Given the description of an element on the screen output the (x, y) to click on. 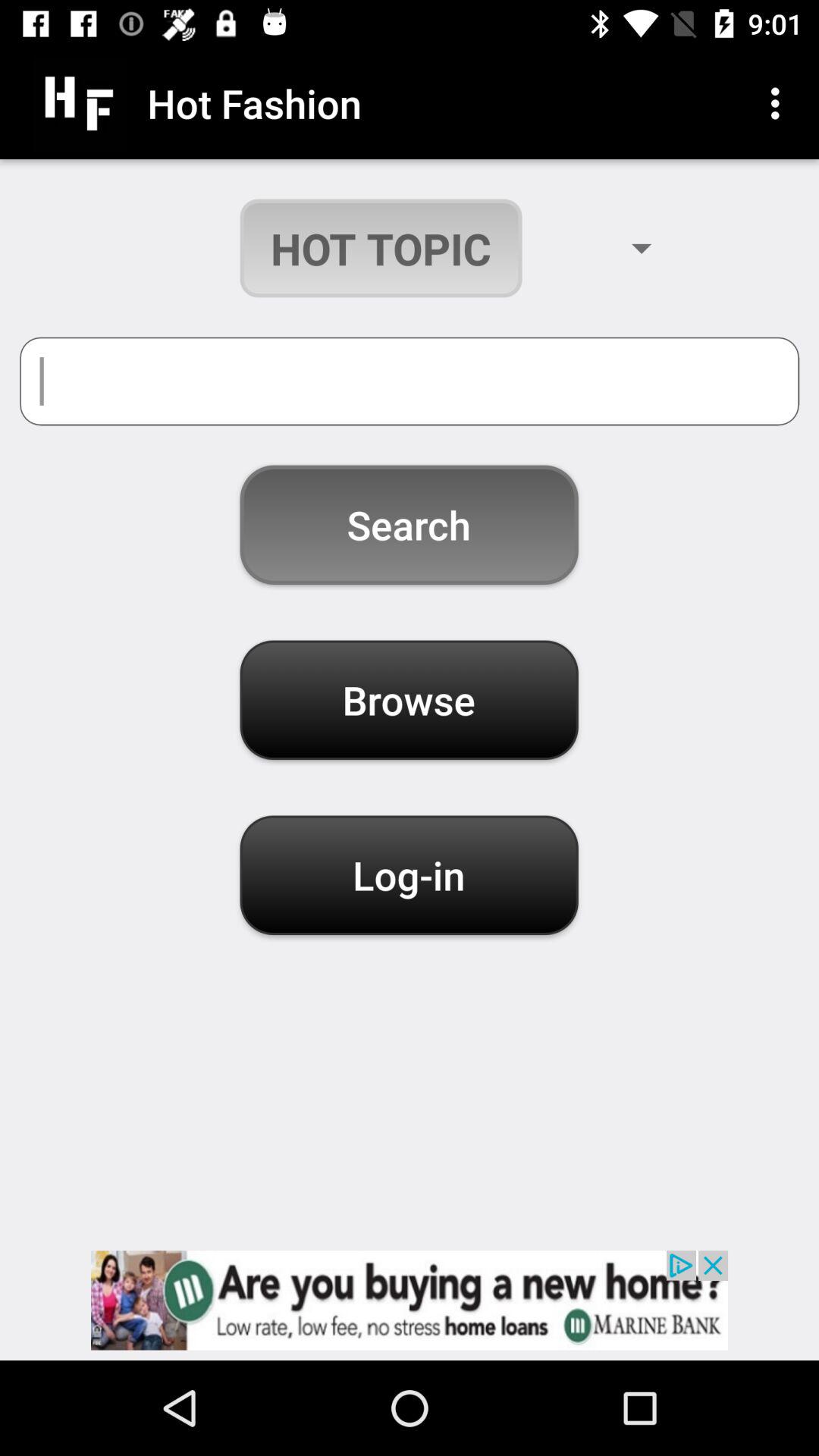
topic bar (409, 381)
